Given the description of an element on the screen output the (x, y) to click on. 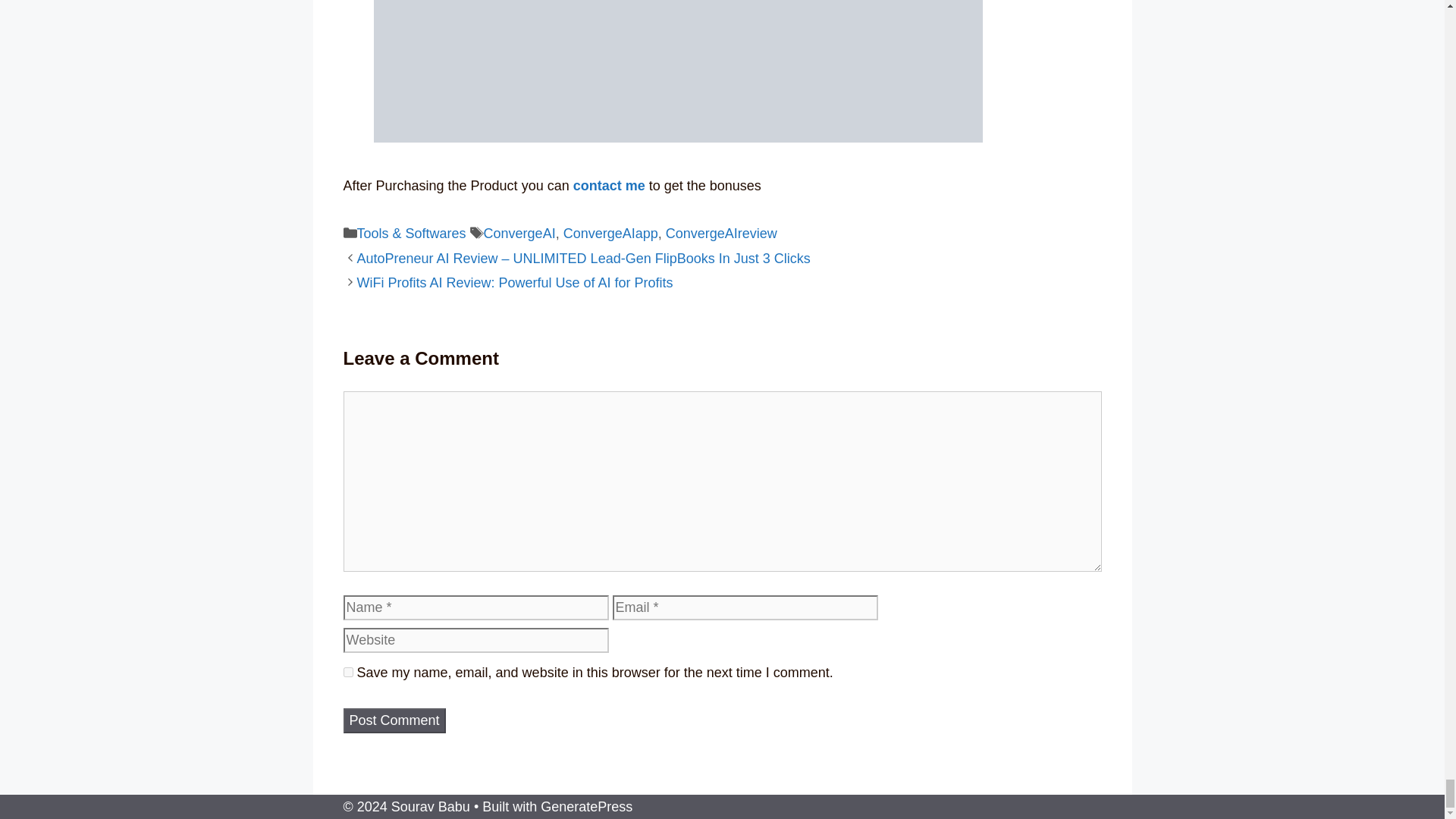
Post Comment (393, 720)
Post Comment (393, 720)
yes (347, 672)
GeneratePress (585, 806)
ConvergeAIreview (721, 233)
ConvergeAI (519, 233)
contact me (609, 185)
WiFi Profits AI Review: Powerful Use of AI for Profits (514, 282)
ConvergeAIapp (610, 233)
